Given the description of an element on the screen output the (x, y) to click on. 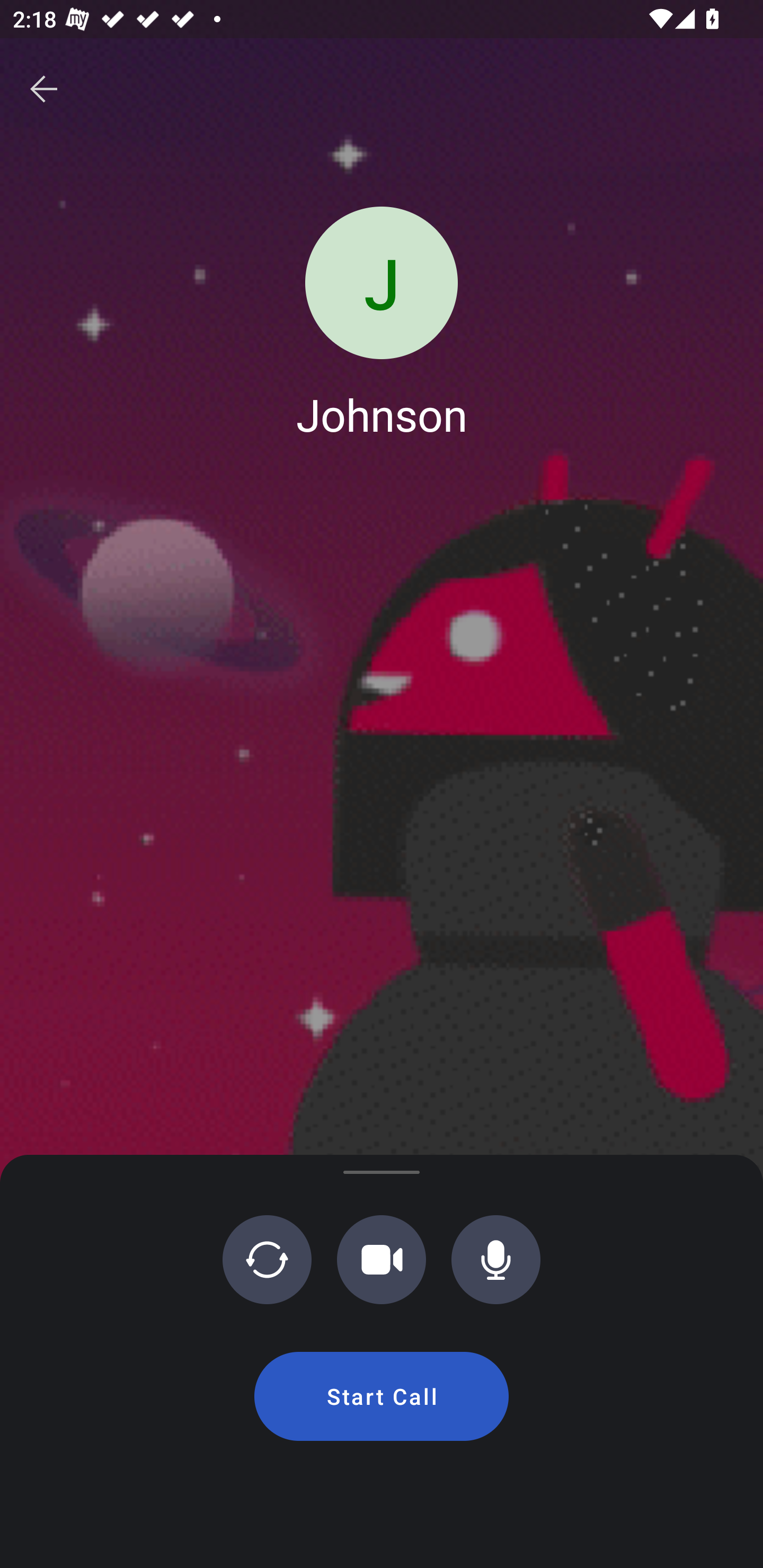
Start Call (381, 1395)
